Given the description of an element on the screen output the (x, y) to click on. 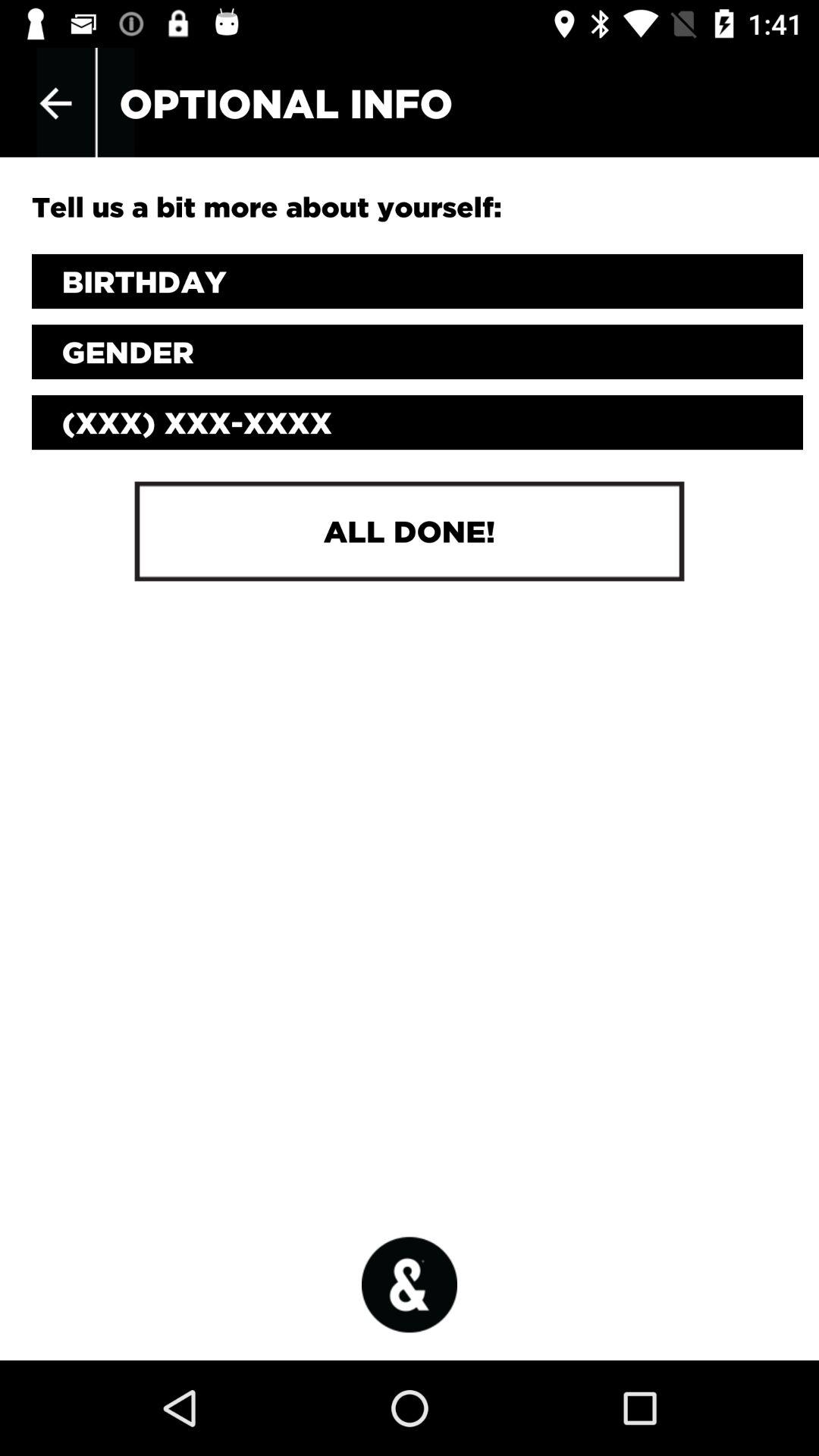
enter date of birth (417, 281)
